Given the description of an element on the screen output the (x, y) to click on. 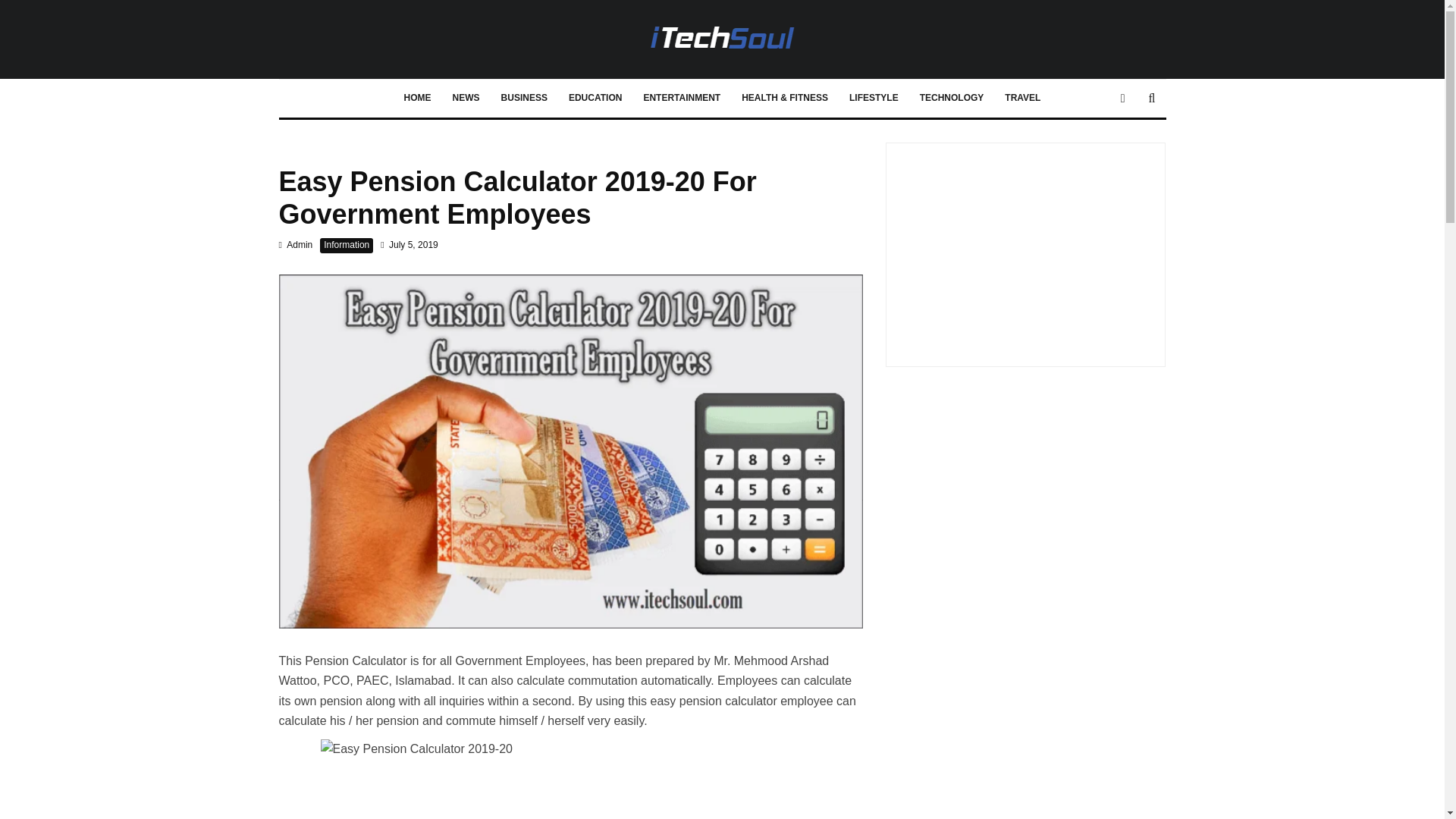
EDUCATION (594, 98)
BUSINESS (523, 98)
Advertisement (1024, 248)
NEWS (466, 98)
HOME (417, 98)
ENTERTAINMENT (680, 98)
